Given the description of an element on the screen output the (x, y) to click on. 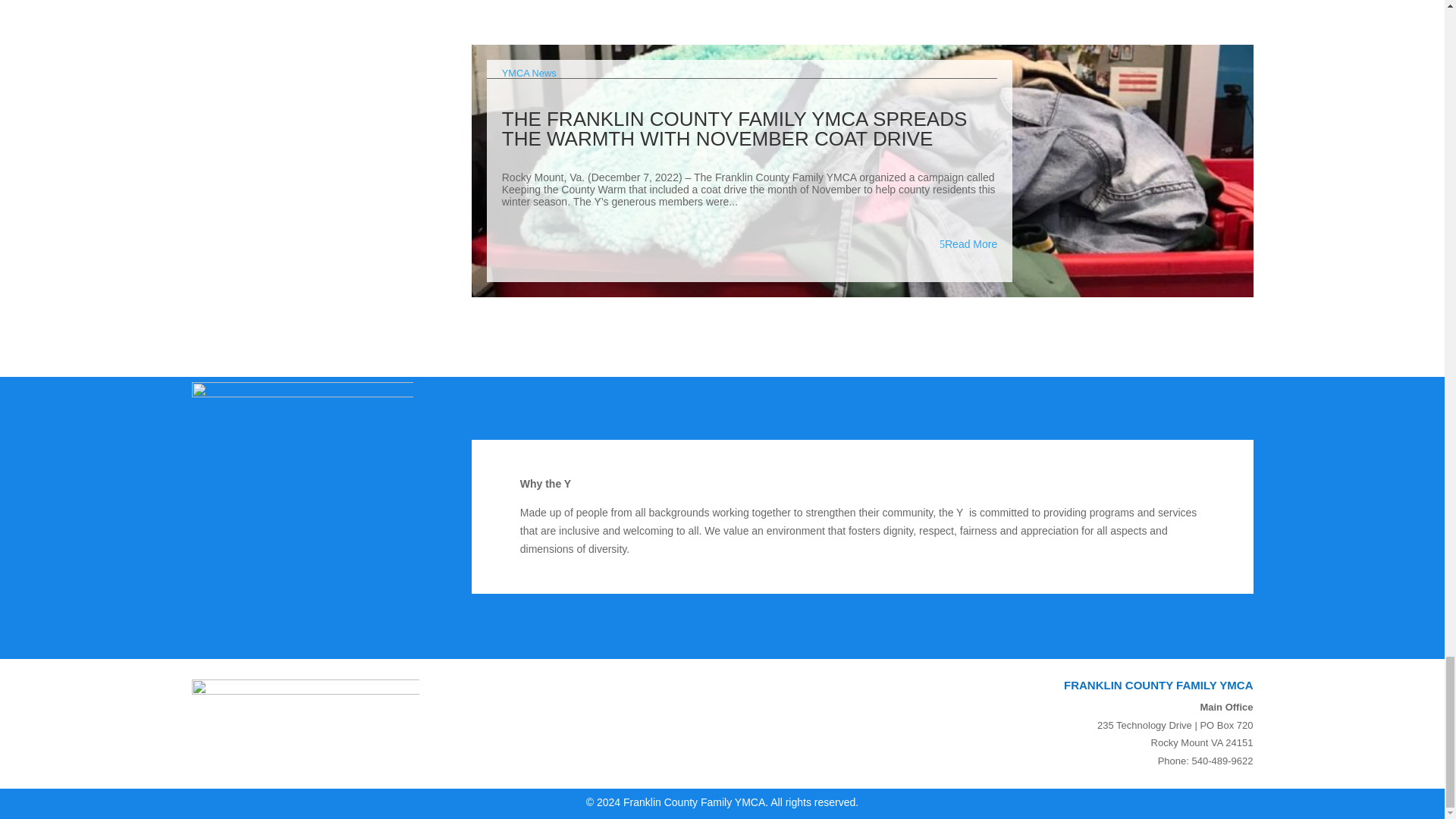
logo-main (304, 716)
